Given the description of an element on the screen output the (x, y) to click on. 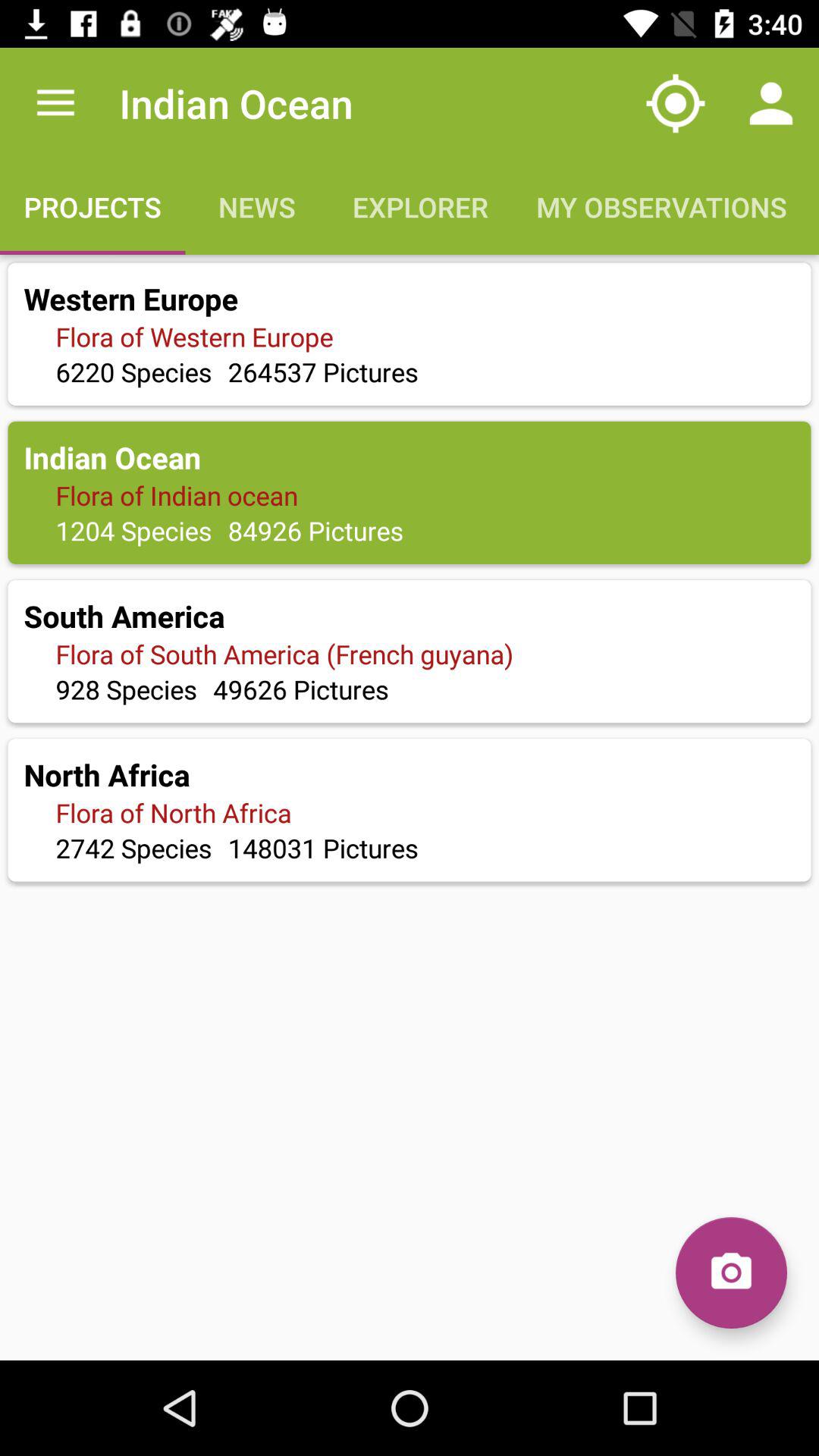
turn off icon at the bottom right corner (731, 1272)
